Given the description of an element on the screen output the (x, y) to click on. 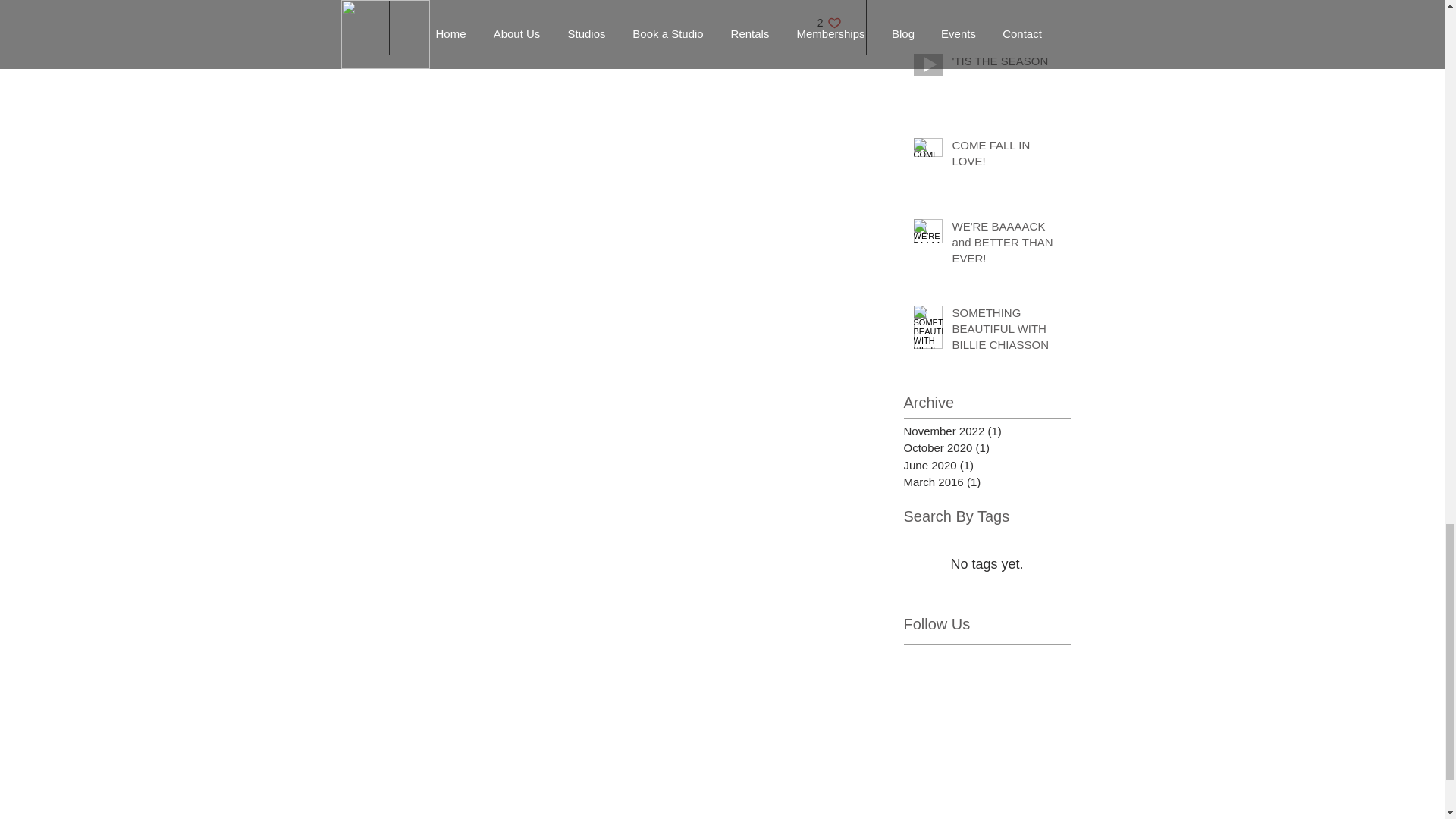
WE'RE BAAAACK and BETTER THAN EVER! (1006, 244)
'TIS THE SEASON (1006, 64)
COME FALL IN LOVE! (1006, 156)
SOMETHING BEAUTIFUL WITH BILLIE CHIASSON (1006, 331)
